Given the description of an element on the screen output the (x, y) to click on. 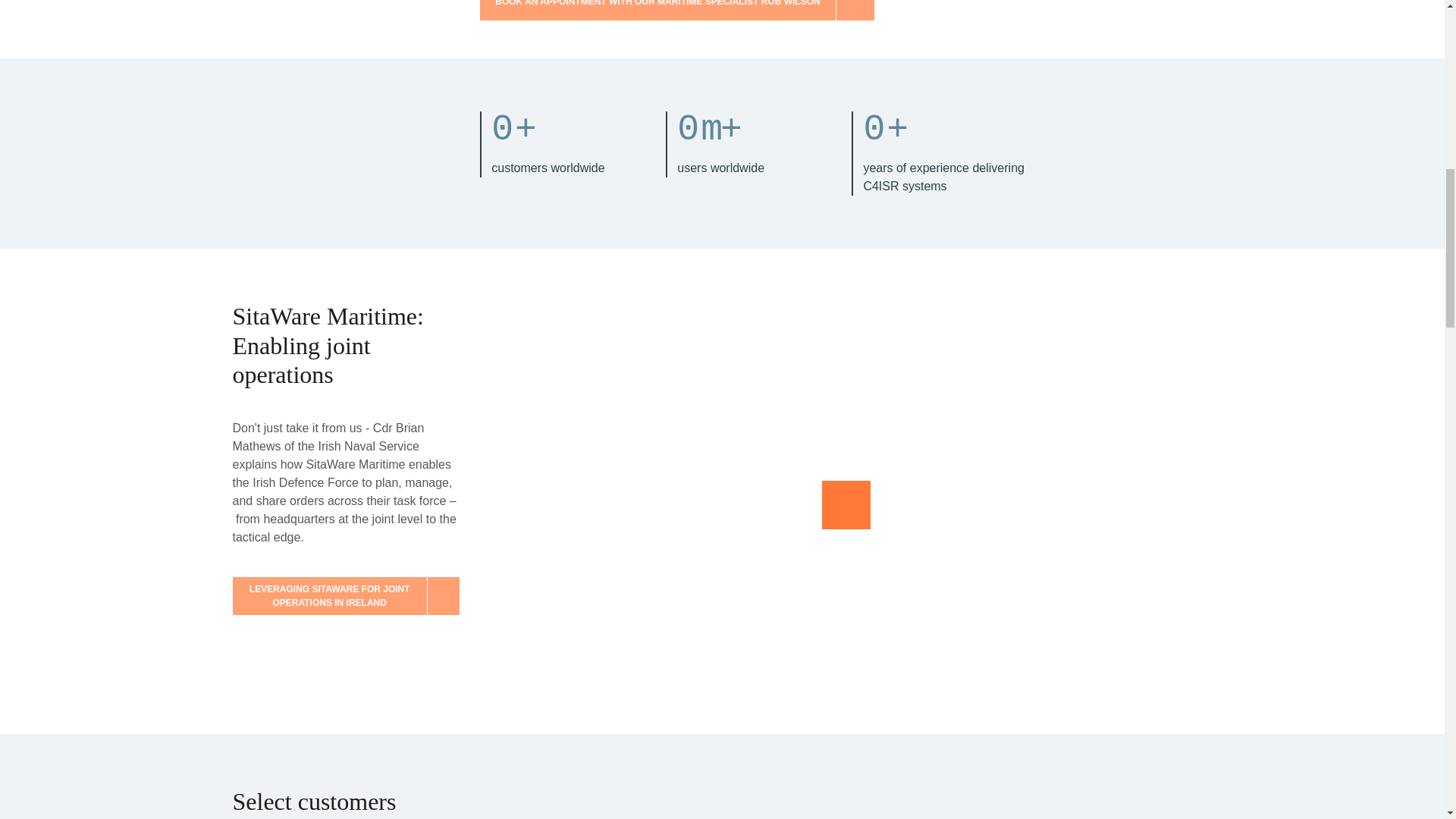
LEVERAGING SITAWARE FOR JOINT OPERATIONS IN IRELAND (344, 596)
BOOK AN APPOINTMENT WITH OUR MARITIME SPECIALIST ROB WILSON (721, 10)
BOOK AN APPOINTMENT WITH OUR MARITIME SPECIALIST ROB WILSON (676, 10)
